Given the description of an element on the screen output the (x, y) to click on. 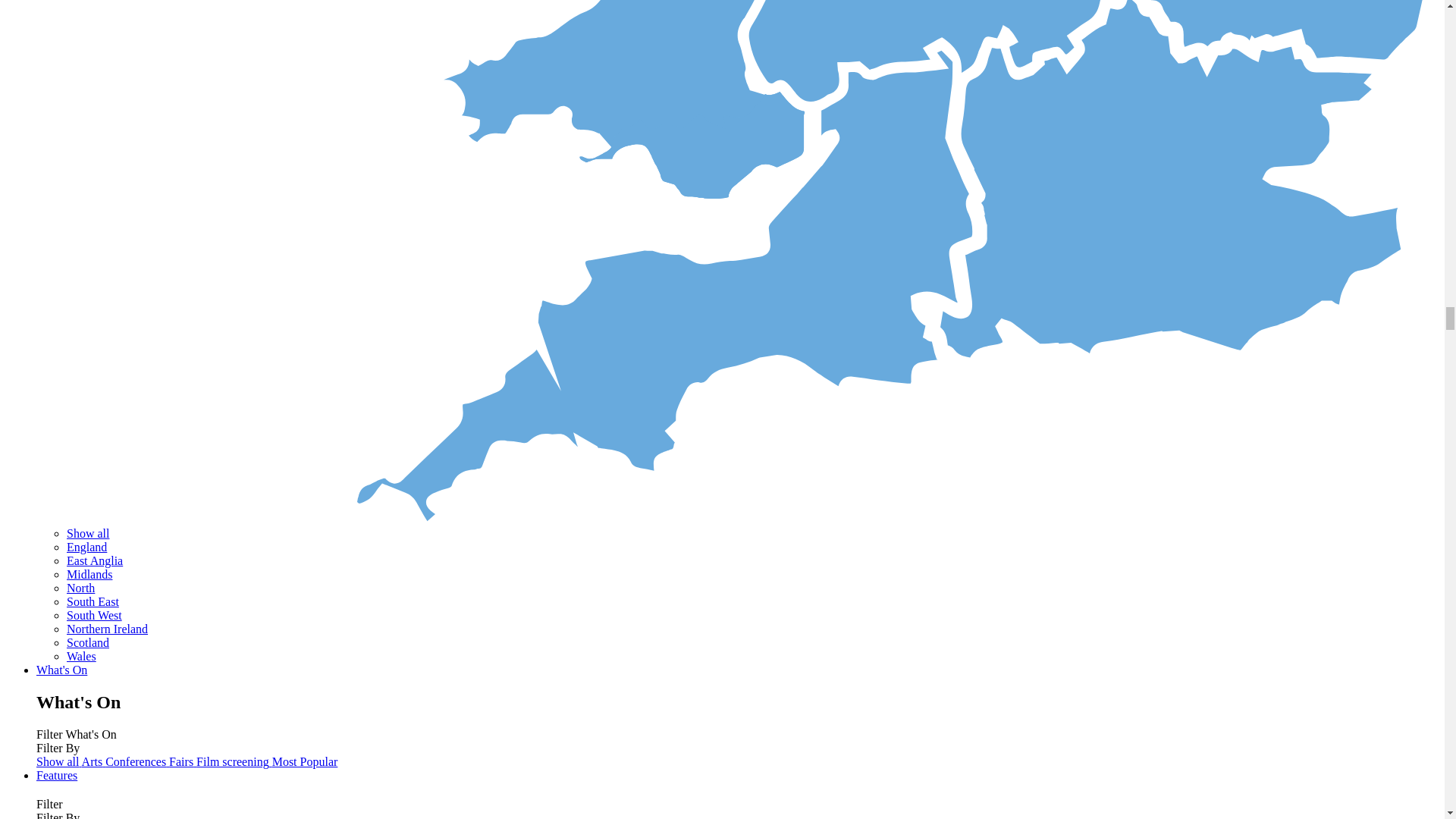
Filter What's On (76, 734)
Most Popular (304, 761)
Midlands (89, 574)
Scotland (87, 642)
Film screening (234, 761)
Show all (58, 761)
Wales (81, 656)
Northern Ireland (107, 628)
Features (56, 775)
Filter (49, 803)
